Given the description of an element on the screen output the (x, y) to click on. 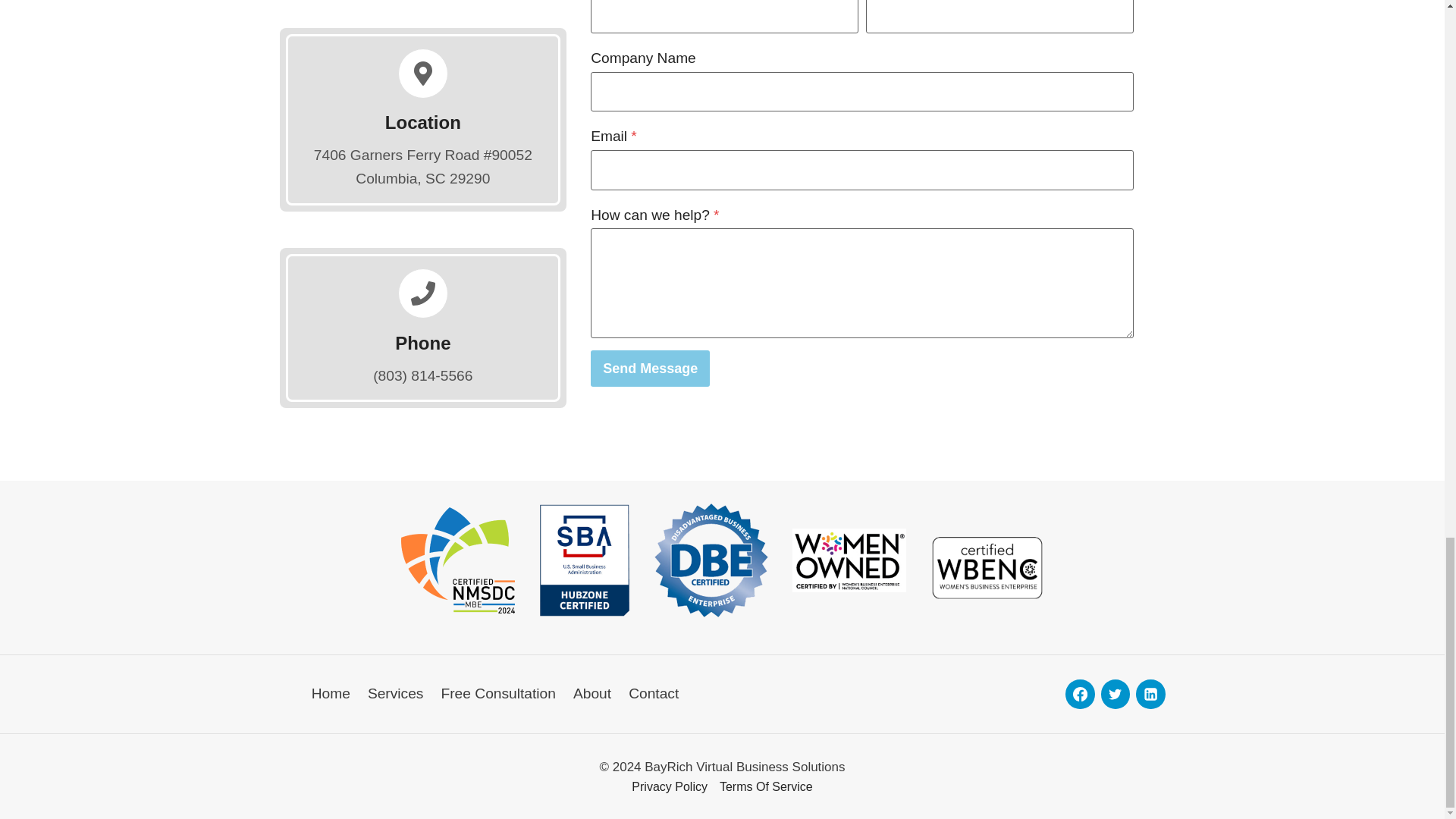
Free Consultation (498, 694)
Send Message (650, 368)
Privacy Policy (669, 786)
Services (395, 694)
Terms Of Service (765, 786)
Home (330, 694)
About (592, 694)
Contact (653, 694)
